Given the description of an element on the screen output the (x, y) to click on. 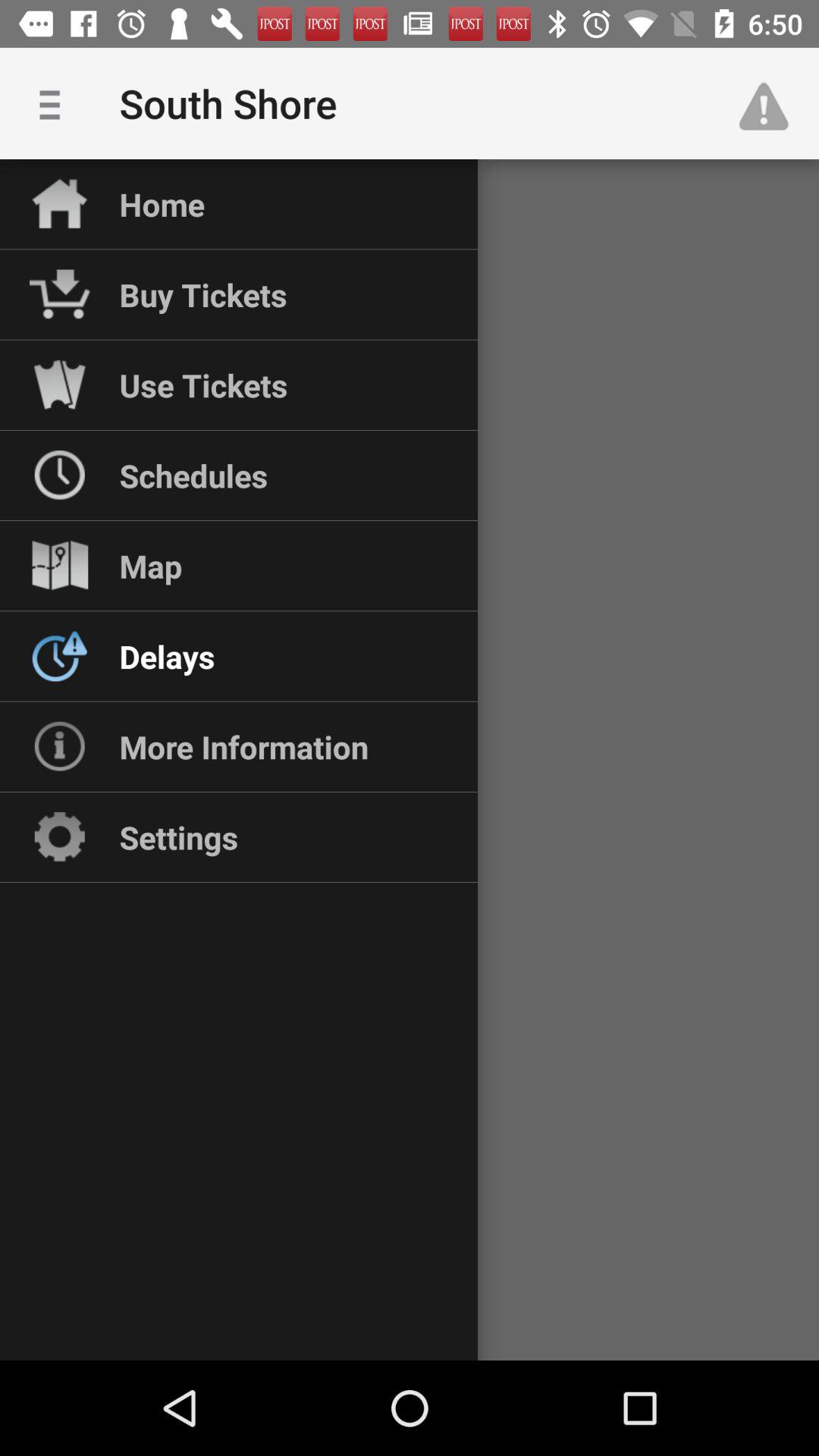
choose icon at the center (409, 759)
